Given the description of an element on the screen output the (x, y) to click on. 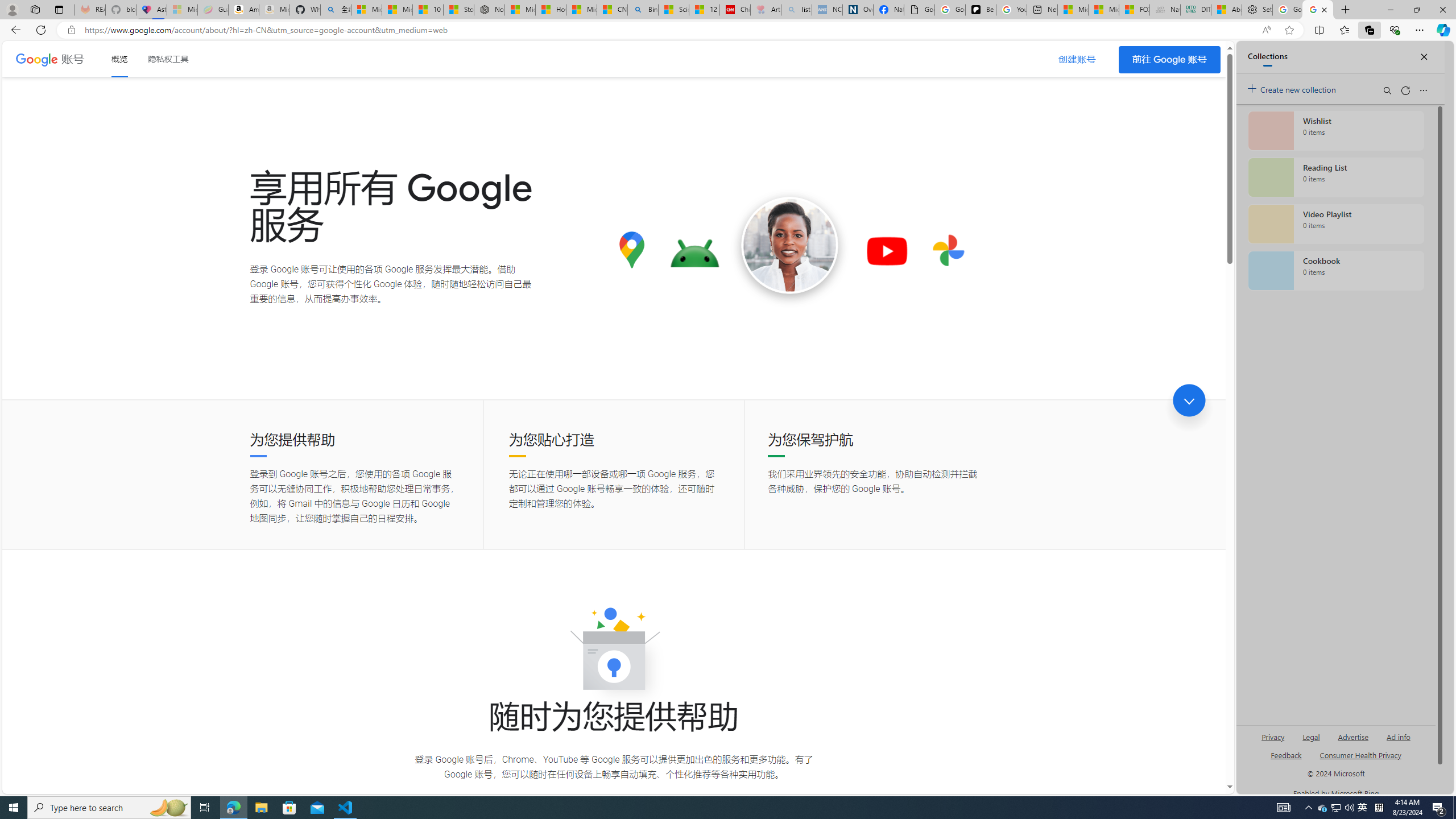
Stocks - MSN (458, 9)
